Given the description of an element on the screen output the (x, y) to click on. 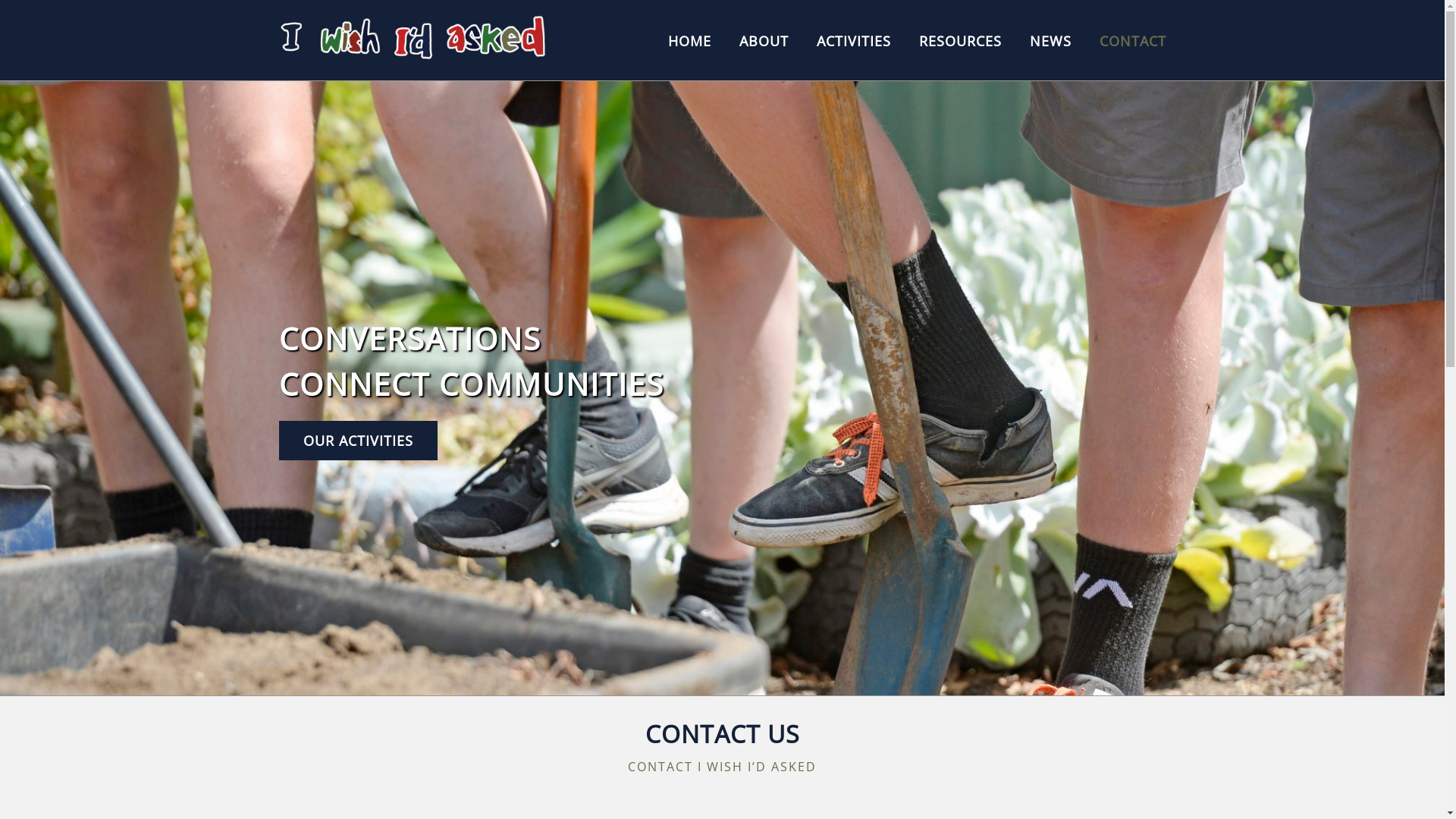
HOME Element type: text (688, 40)
NEWS Element type: text (1050, 40)
ABOUT Element type: text (762, 40)
ACTIVITIES Element type: text (852, 40)
CONTACT Element type: text (1132, 40)
RESOURCES Element type: text (960, 40)
OUR ACTIVITIES Element type: text (358, 440)
